Given the description of an element on the screen output the (x, y) to click on. 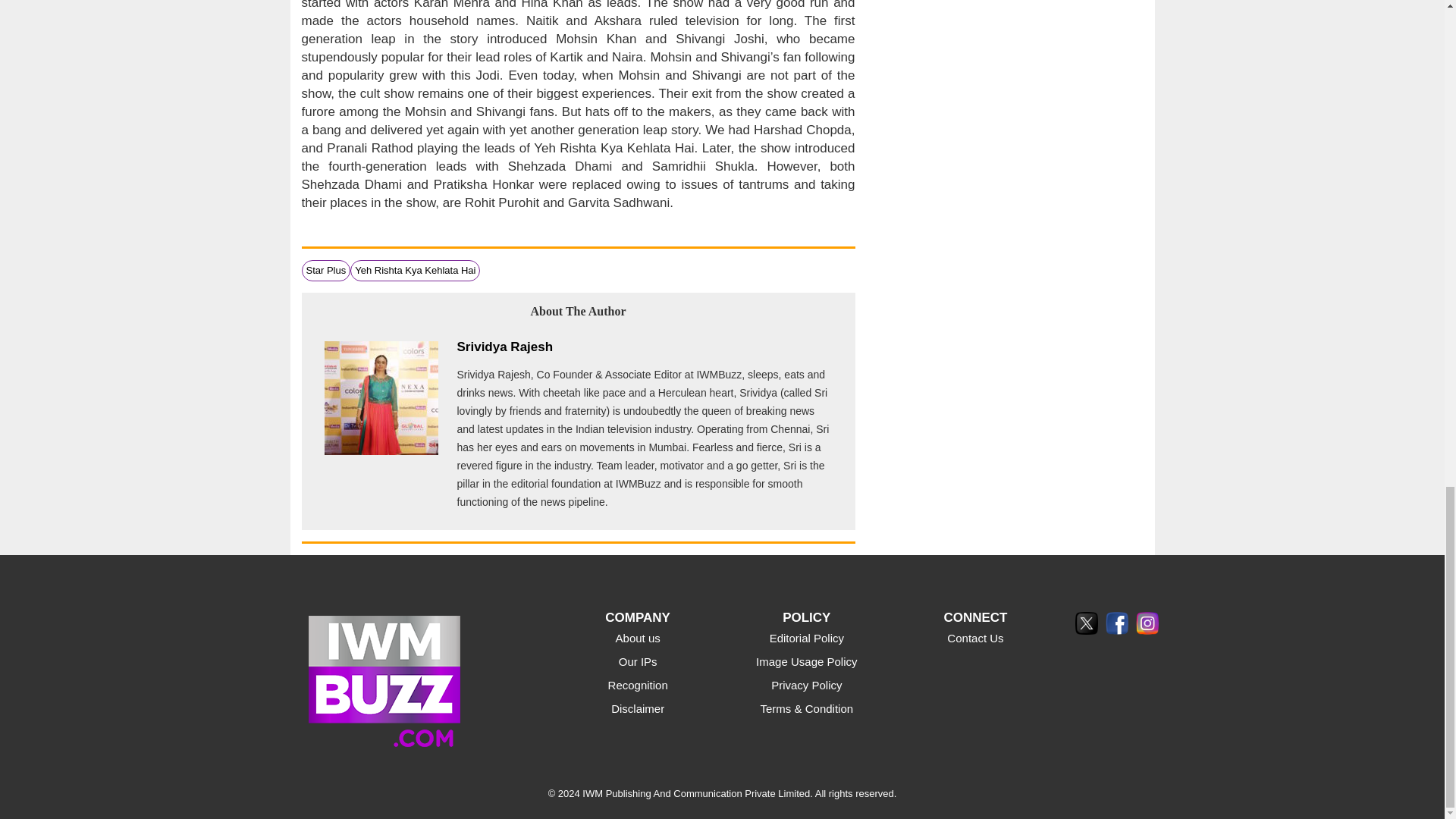
Yeh Rishta Kya Kehlata Hai (415, 270)
Srividya Rajesh (505, 346)
Star Plus (325, 270)
